Given the description of an element on the screen output the (x, y) to click on. 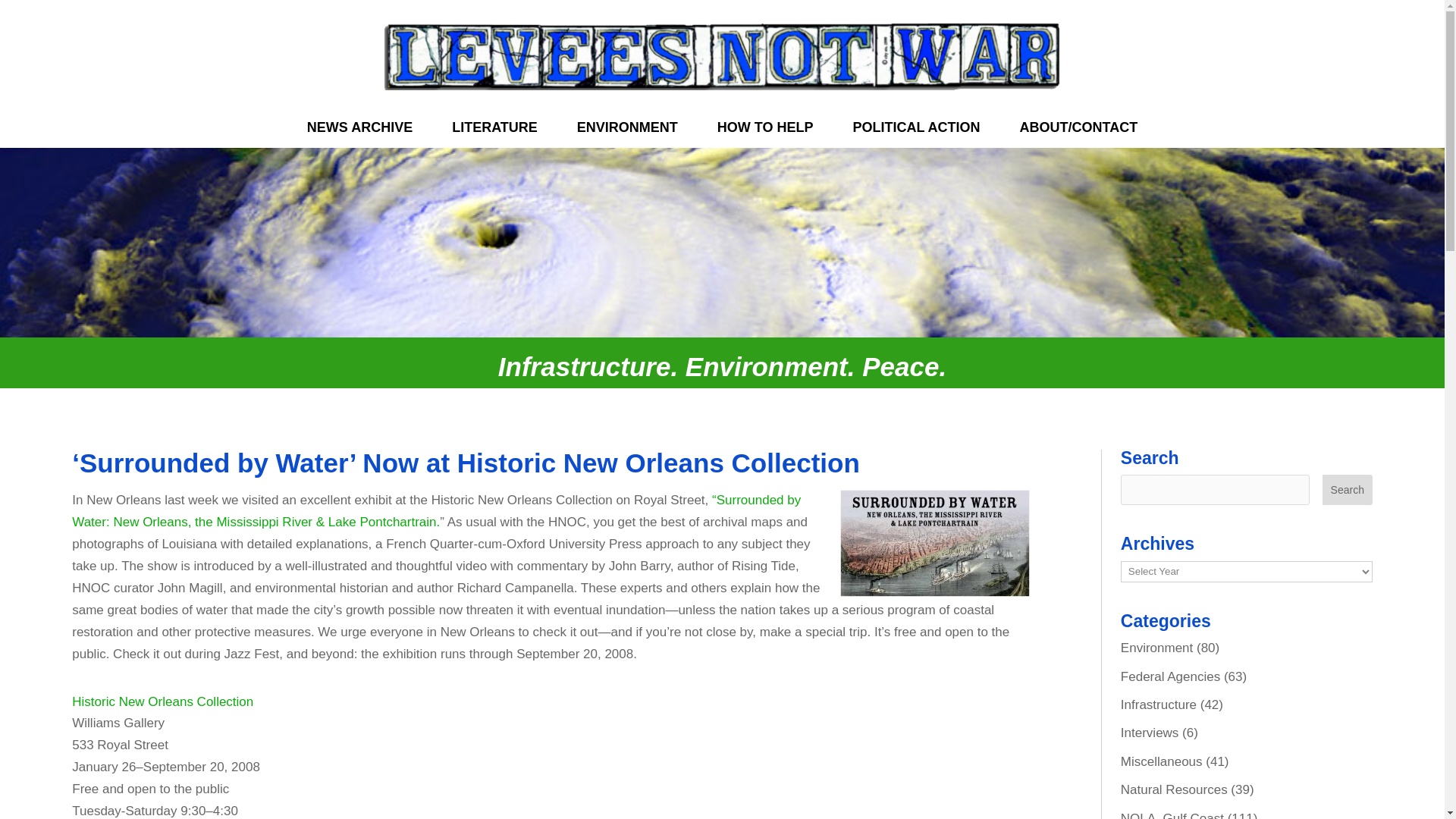
NEWS ARCHIVE (359, 130)
ENVIRONMENT (627, 130)
Interviews (1150, 732)
Historic New Orleans Collection (162, 701)
LITERATURE (494, 130)
POLITICAL ACTION (916, 130)
HOW TO HELP (765, 130)
Miscellaneous (1161, 761)
NOLA, Gulf Coast (1172, 815)
Search (1347, 490)
LeevesNotWar-logo-2024 (721, 54)
Infrastructure (1158, 704)
Federal Agencies (1170, 676)
Natural Resources (1174, 789)
Environment (1156, 647)
